Given the description of an element on the screen output the (x, y) to click on. 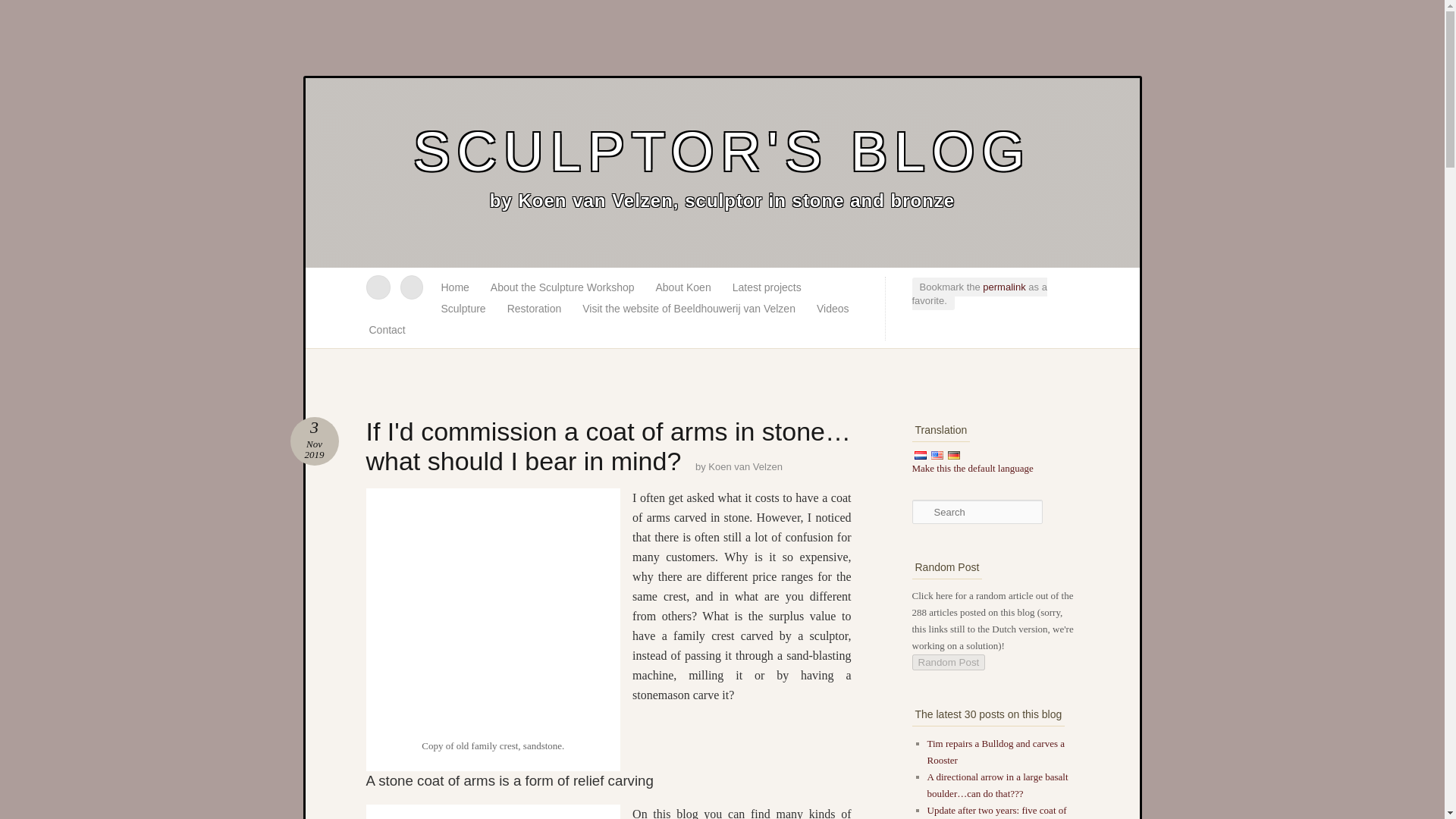
SCULPTOR'S BLOG (721, 152)
Search (21, 7)
Latest projects (767, 287)
About Koen (682, 287)
all the sculptures that do not fall under restoration (463, 308)
Restoration (534, 308)
latest projects (767, 287)
About the Sculpture Workshop (562, 287)
Contact (386, 329)
homepage (455, 287)
